Given the description of an element on the screen output the (x, y) to click on. 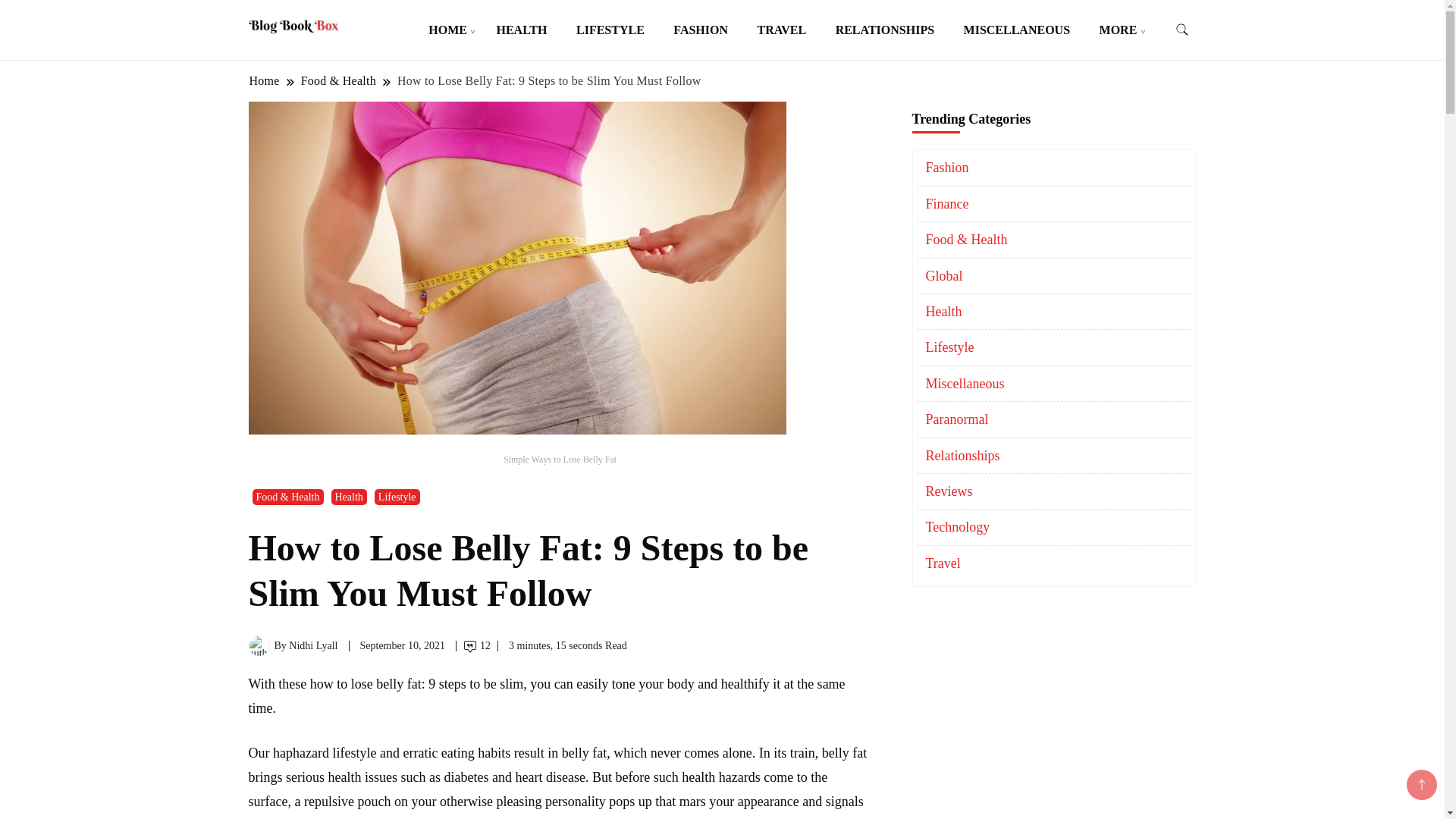
MORE (1118, 29)
HEALTH (521, 29)
FASHION (701, 29)
Blog Book Box (408, 47)
HOME (447, 29)
LIFESTYLE (610, 29)
MISCELLANEOUS (1016, 29)
TRAVEL (781, 29)
RELATIONSHIPS (884, 29)
